Given the description of an element on the screen output the (x, y) to click on. 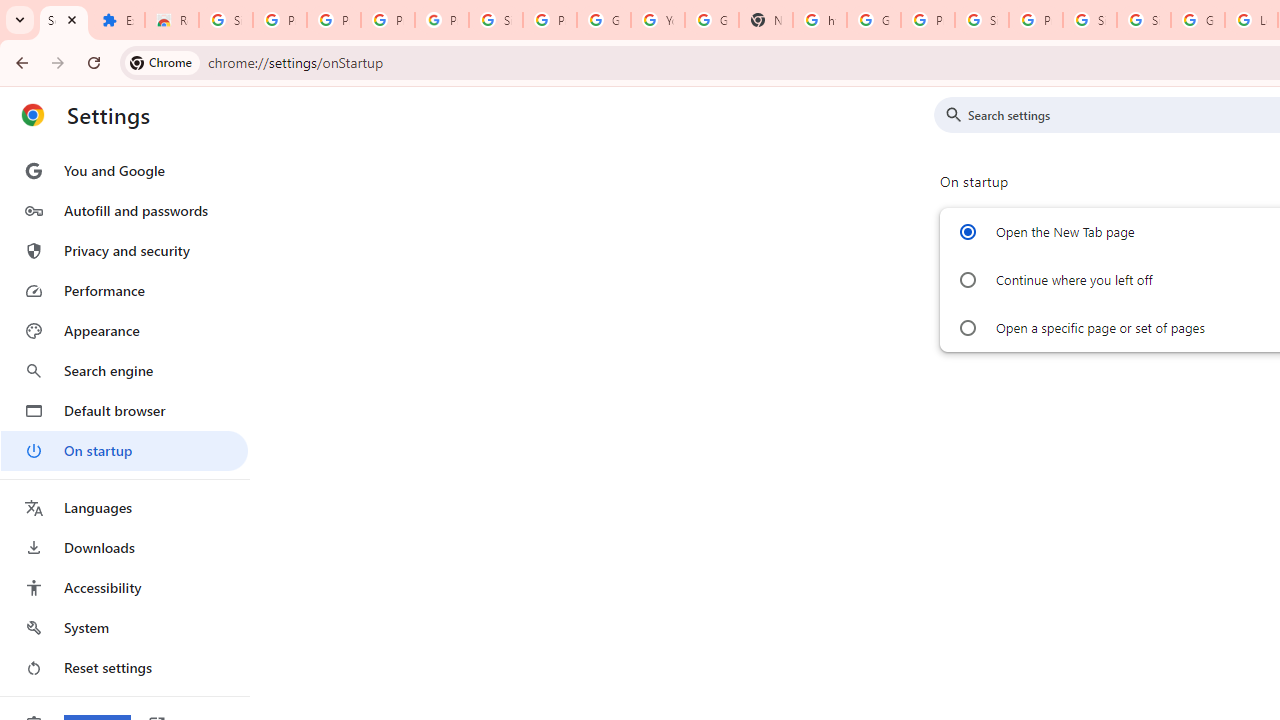
Continue where you left off (966, 280)
Search engine (124, 370)
Google Account (604, 20)
Languages (124, 507)
Settings - On startup (63, 20)
Sign in - Google Accounts (1089, 20)
Downloads (124, 547)
YouTube (657, 20)
Sign in - Google Accounts (1144, 20)
Sign in - Google Accounts (495, 20)
